Given the description of an element on the screen output the (x, y) to click on. 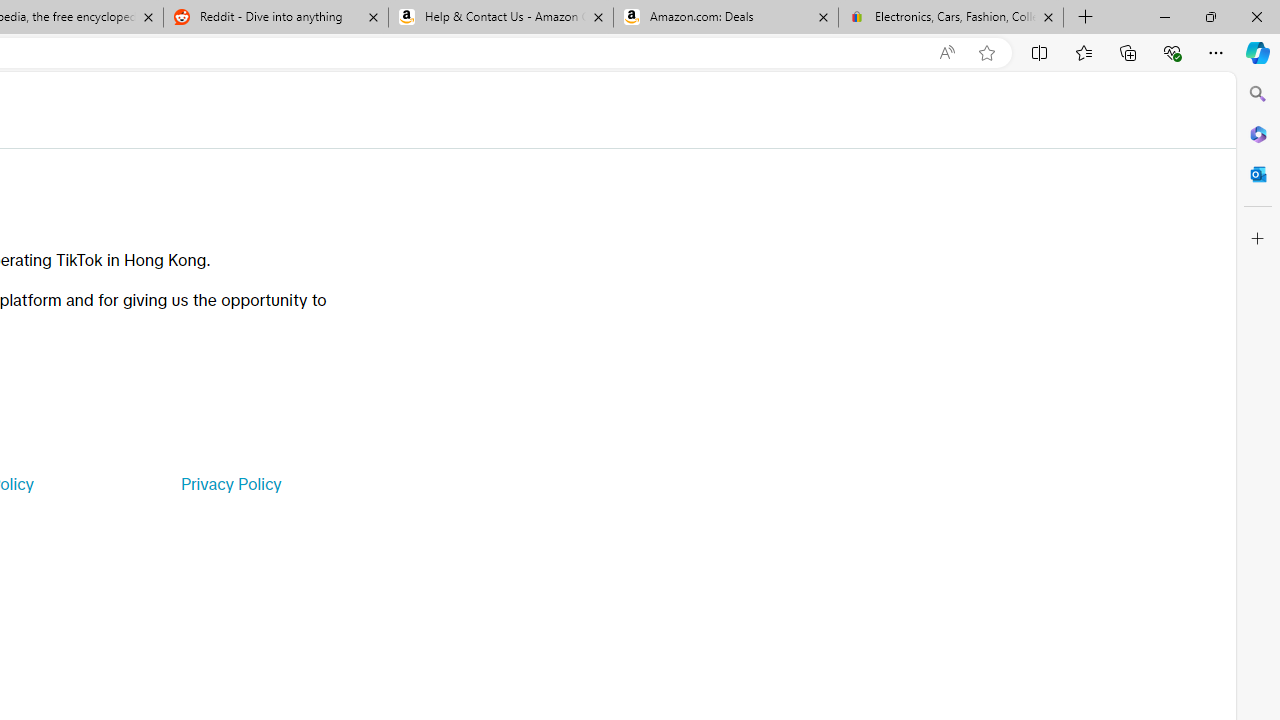
Privacy Policy (230, 484)
